Given the description of an element on the screen output the (x, y) to click on. 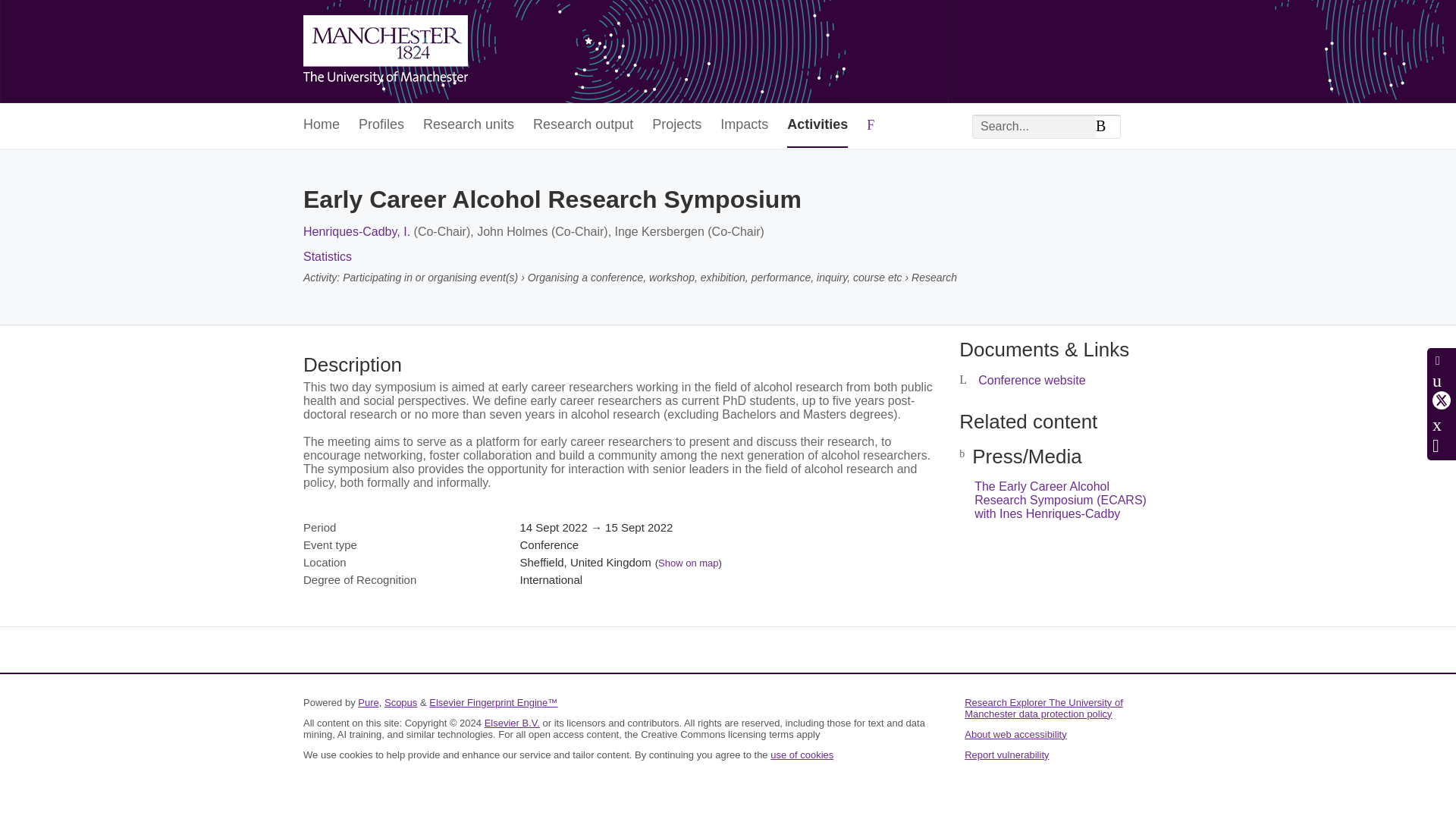
use of cookies (801, 754)
Activities (817, 125)
Show on map (688, 562)
Elsevier B.V. (512, 722)
Research Explorer The University of Manchester Home (384, 51)
Henriques-Cadby, I. (356, 231)
Projects (676, 125)
Impacts (744, 125)
Statistics (327, 256)
Report vulnerability (1005, 754)
X (1441, 400)
Profiles (381, 125)
Research output (582, 125)
Conference website (1031, 379)
